Given the description of an element on the screen output the (x, y) to click on. 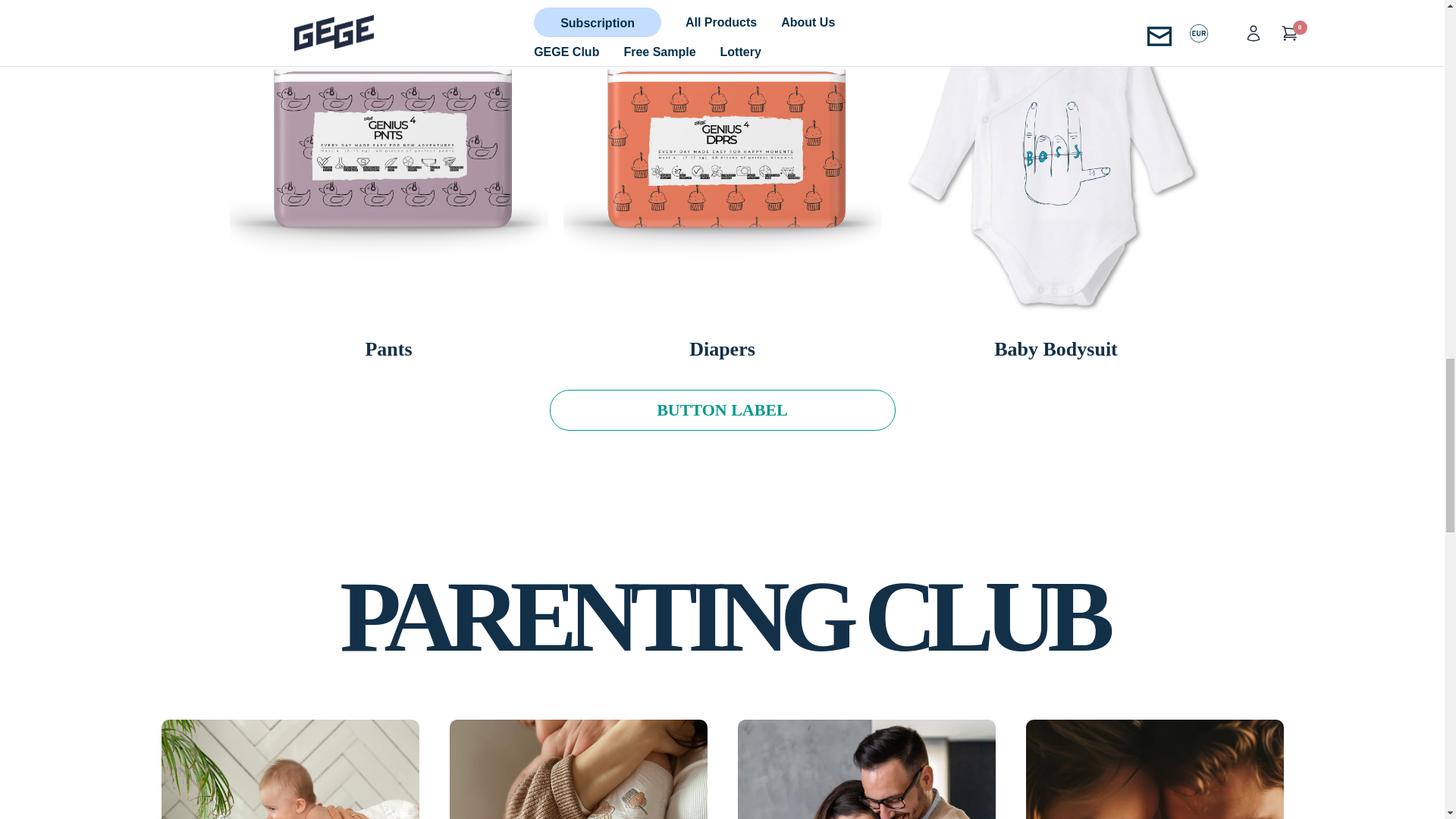
Pants (388, 349)
